Given the description of an element on the screen output the (x, y) to click on. 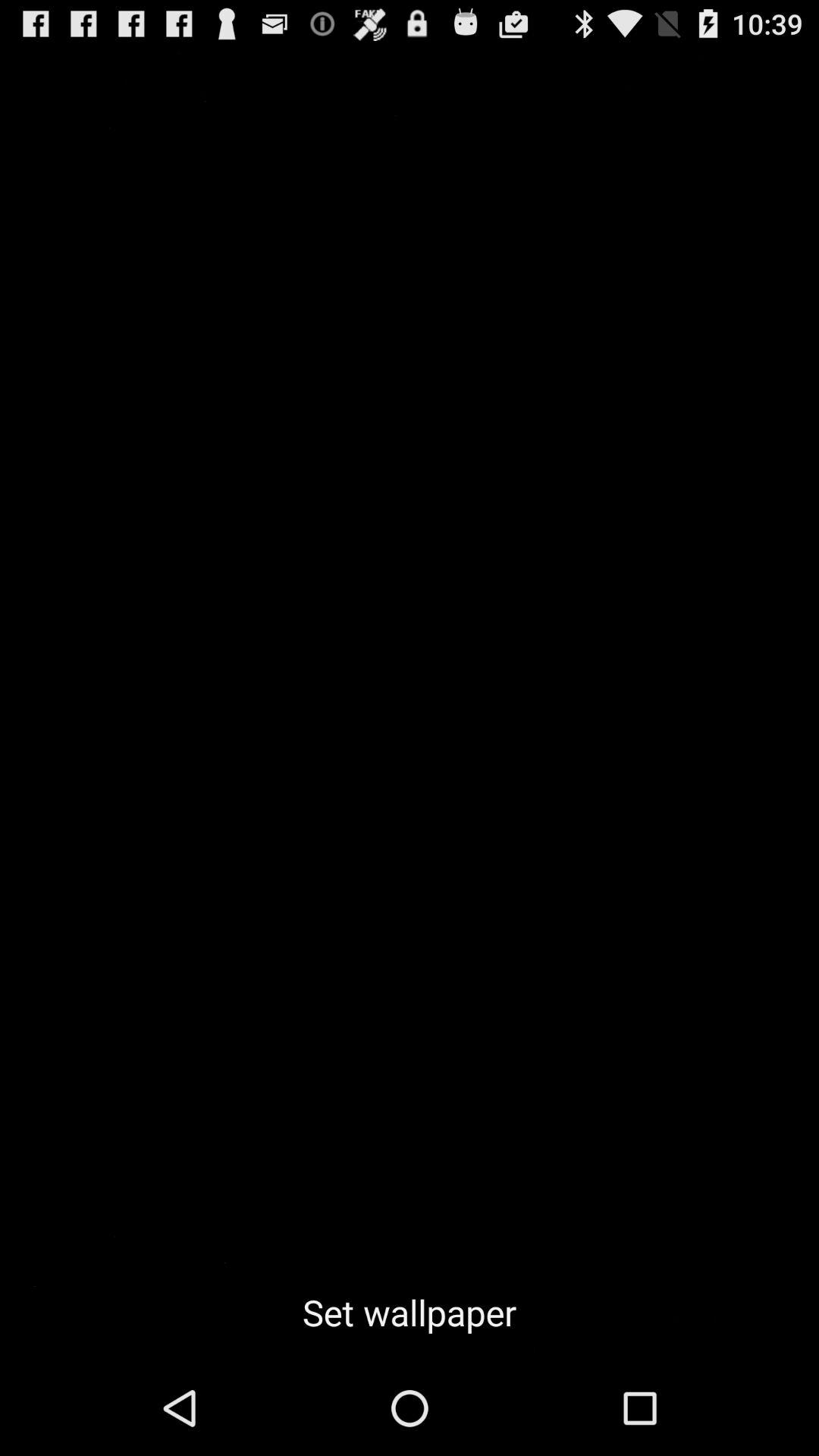
turn off set wallpaper (409, 1312)
